Given the description of an element on the screen output the (x, y) to click on. 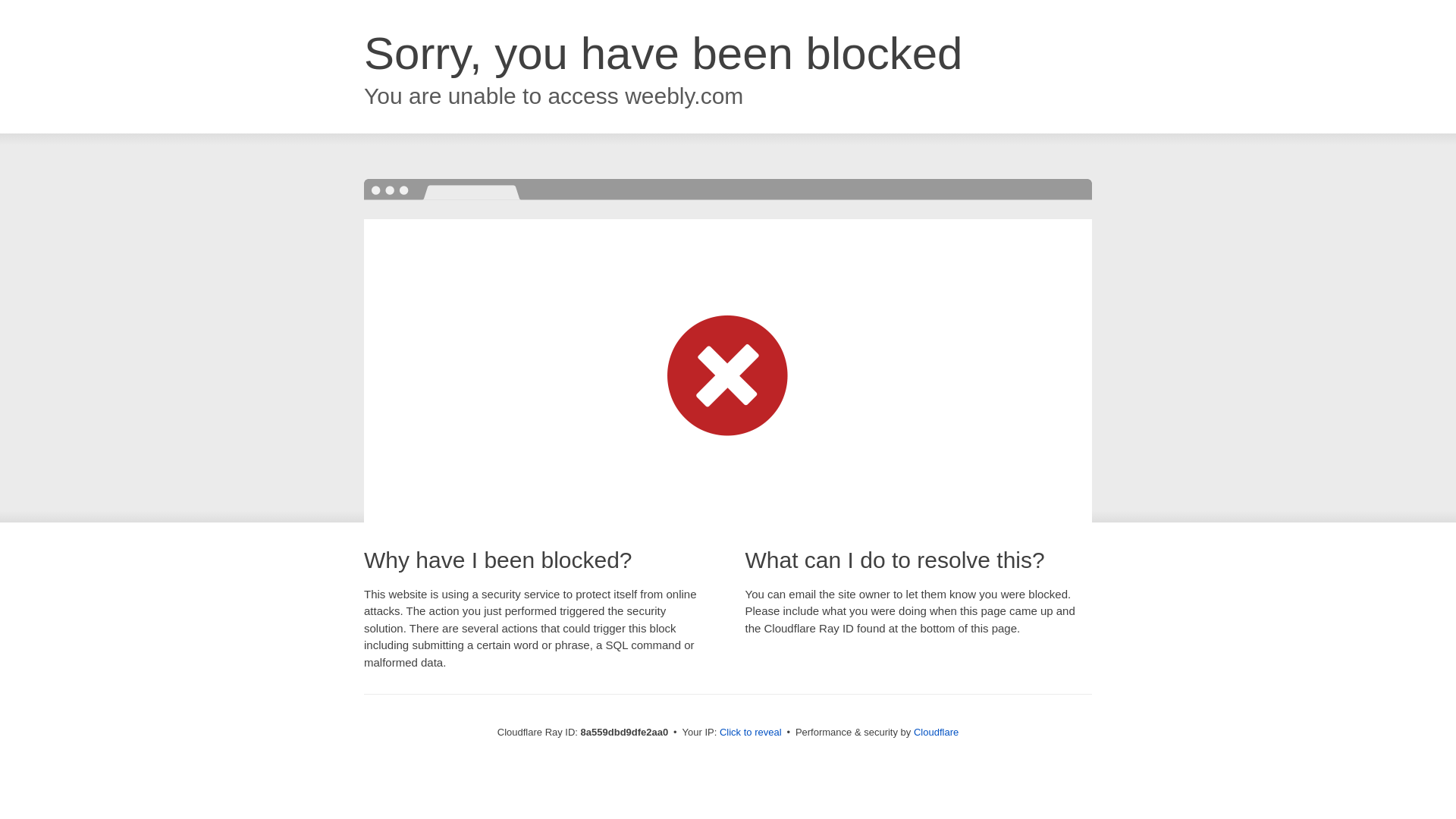
Cloudflare (936, 731)
Click to reveal (750, 732)
